Given the description of an element on the screen output the (x, y) to click on. 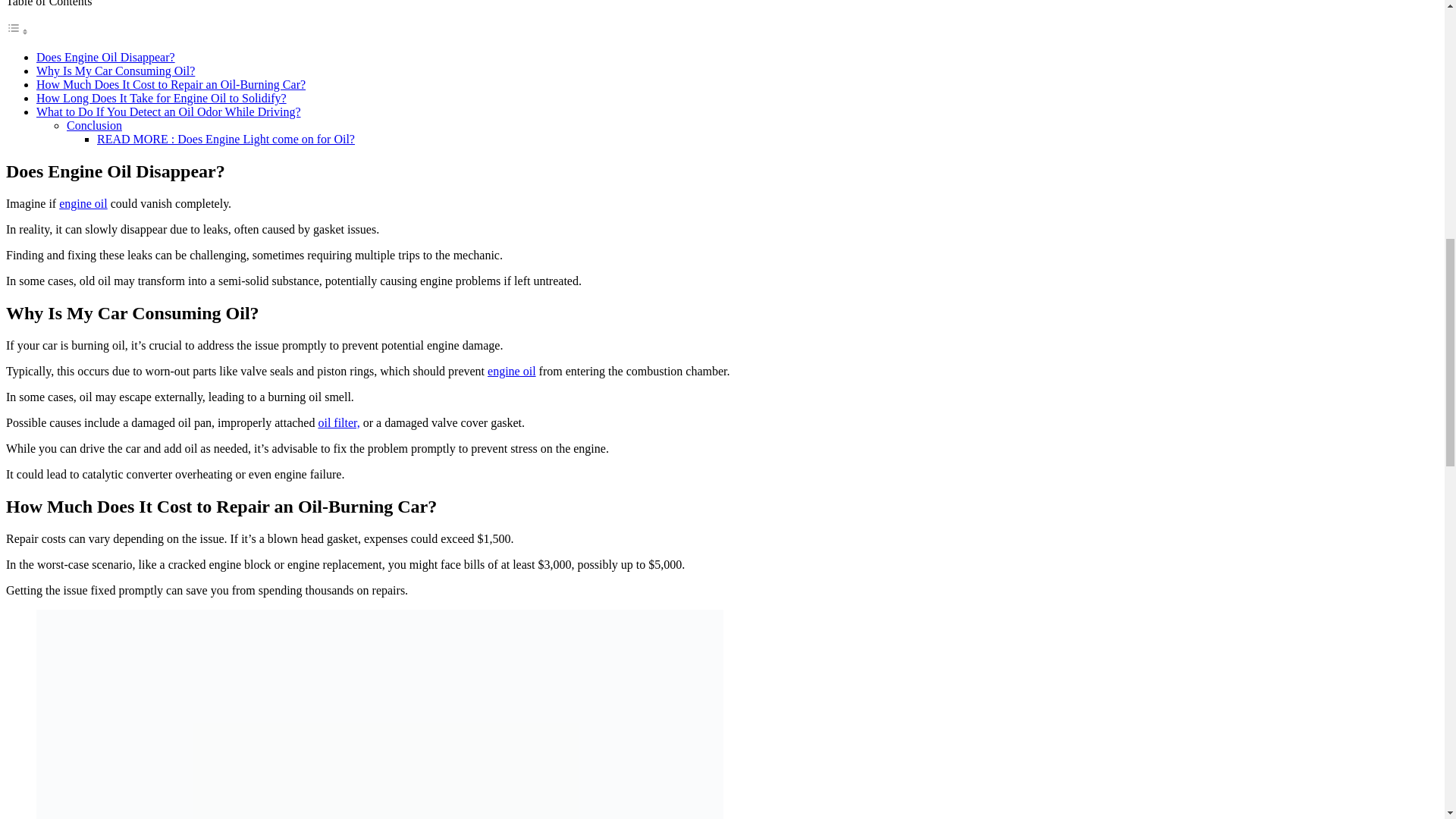
How Much Does It Cost to Repair an Oil-Burning Car? (170, 83)
Does Engine Oil Disappear? (105, 56)
engine oil (83, 203)
READ MORE : Does Engine Light come on for Oil? (226, 138)
engine oil (511, 370)
What to Do If You Detect an Oil Odor While Driving? (168, 111)
Conclusion (94, 124)
How Long Does It Take for Engine Oil to Solidify? (161, 97)
oil filter, (338, 422)
How Much Does It Cost to Repair an Oil-Burning Car? (170, 83)
READ MORE : Does Engine Light come on for Oil? (226, 138)
How Long Does It Take for Engine Oil to Solidify? (161, 97)
Conclusion (94, 124)
What to Do If You Detect an Oil Odor While Driving? (168, 111)
Why Is My Car Consuming Oil? (115, 70)
